Given the description of an element on the screen output the (x, y) to click on. 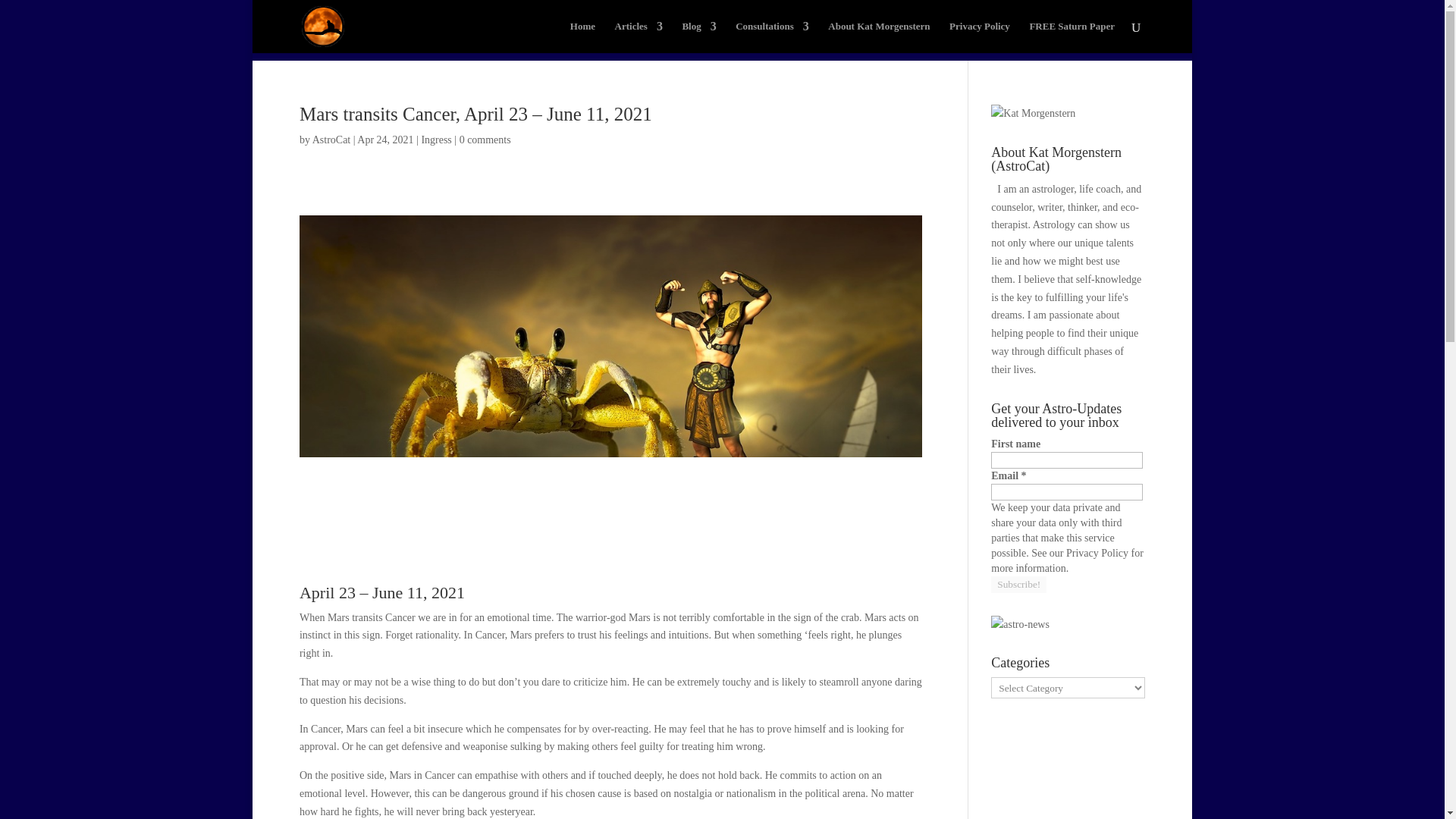
Blog (698, 37)
Posts by AstroCat (331, 139)
About Kat Morgenstern (879, 37)
Subscribe! (1018, 584)
Privacy Policy (979, 37)
AstroCat (331, 139)
First name (1066, 460)
0 comments (485, 139)
Consultations (772, 37)
